Given the description of an element on the screen output the (x, y) to click on. 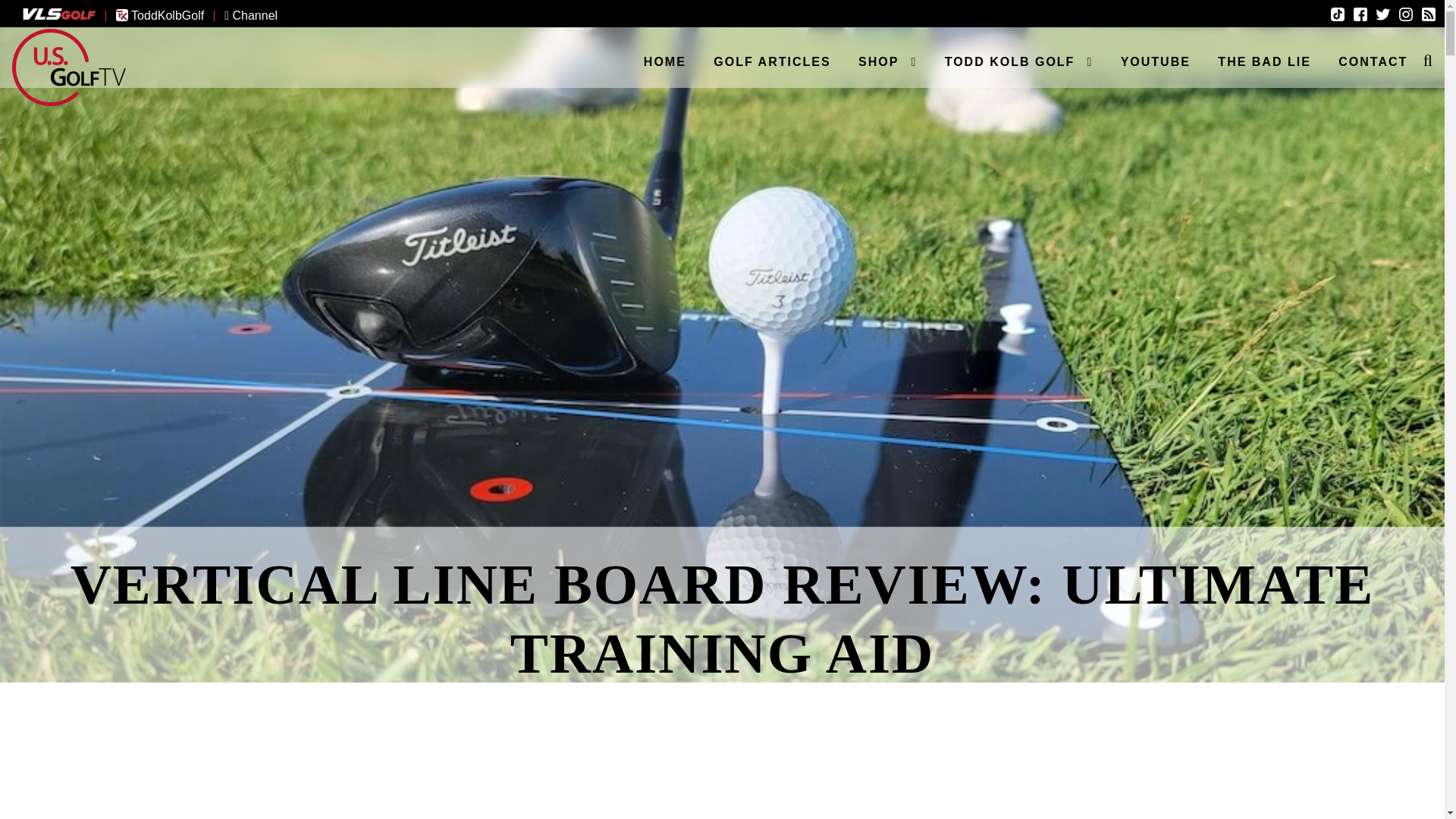
YOUTUBE (1155, 60)
ToddKolbGolf (159, 15)
TODD KOLB GOLF (1019, 60)
HOME (664, 60)
THE BAD LIE (1263, 60)
Channel (250, 15)
SHOP (886, 60)
GOLF ARTICLES (772, 60)
CONTACT (1372, 60)
